Given the description of an element on the screen output the (x, y) to click on. 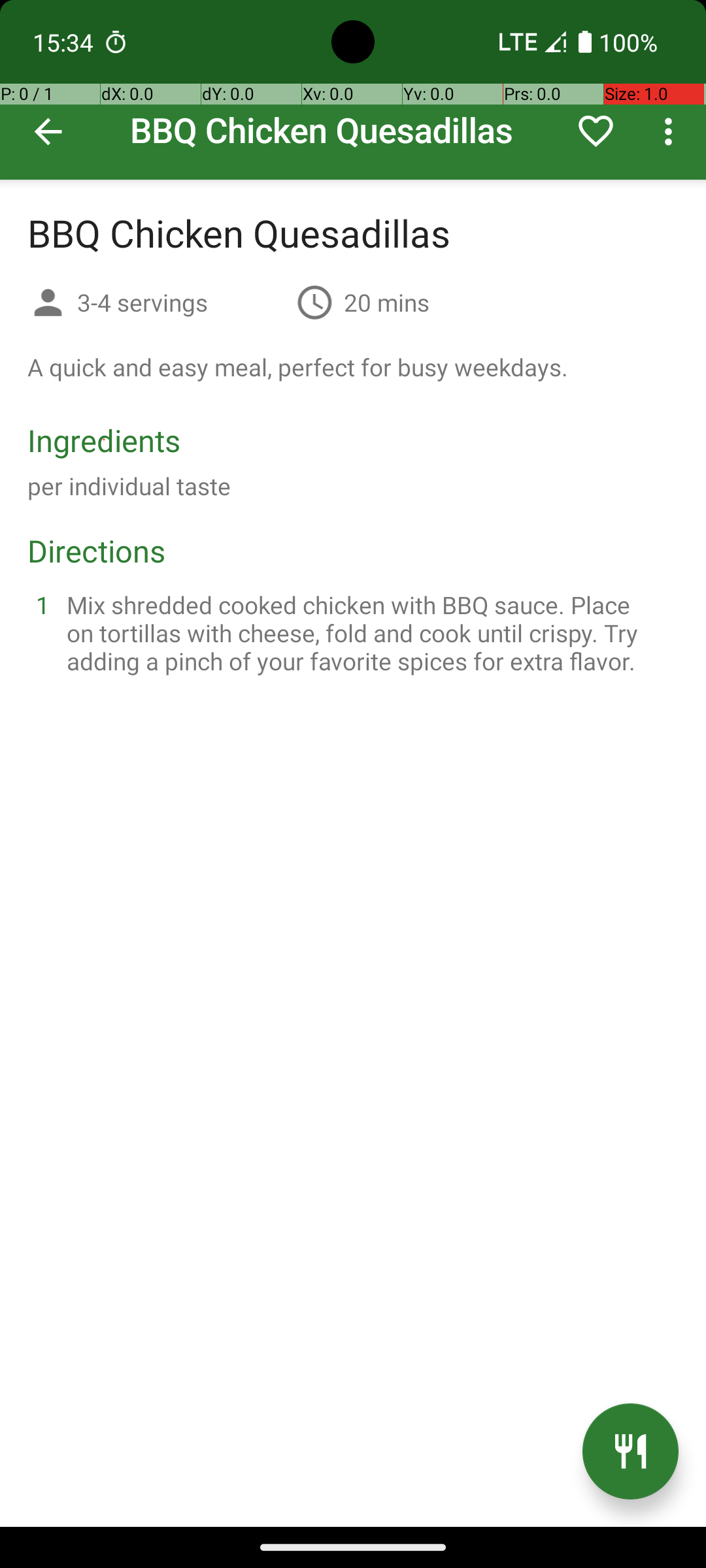
Mix shredded cooked chicken with BBQ sauce. Place on tortillas with cheese, fold and cook until crispy. Try adding a pinch of your favorite spices for extra flavor. Element type: android.widget.TextView (368, 632)
